Given the description of an element on the screen output the (x, y) to click on. 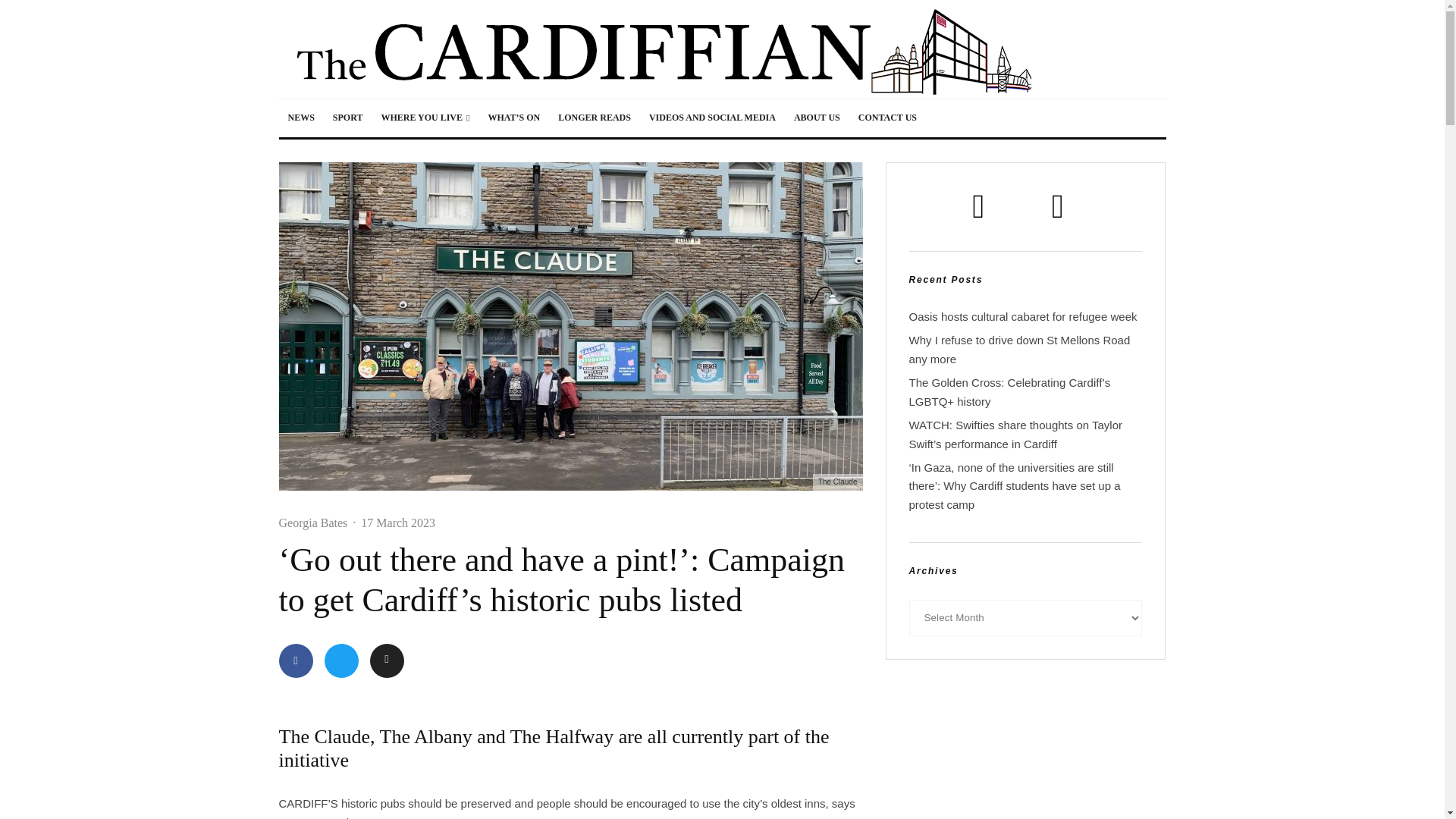
Posts by Georgia Bates (313, 522)
NEWS (301, 118)
WHERE YOU LIVE (425, 118)
SPORT (347, 118)
